Given the description of an element on the screen output the (x, y) to click on. 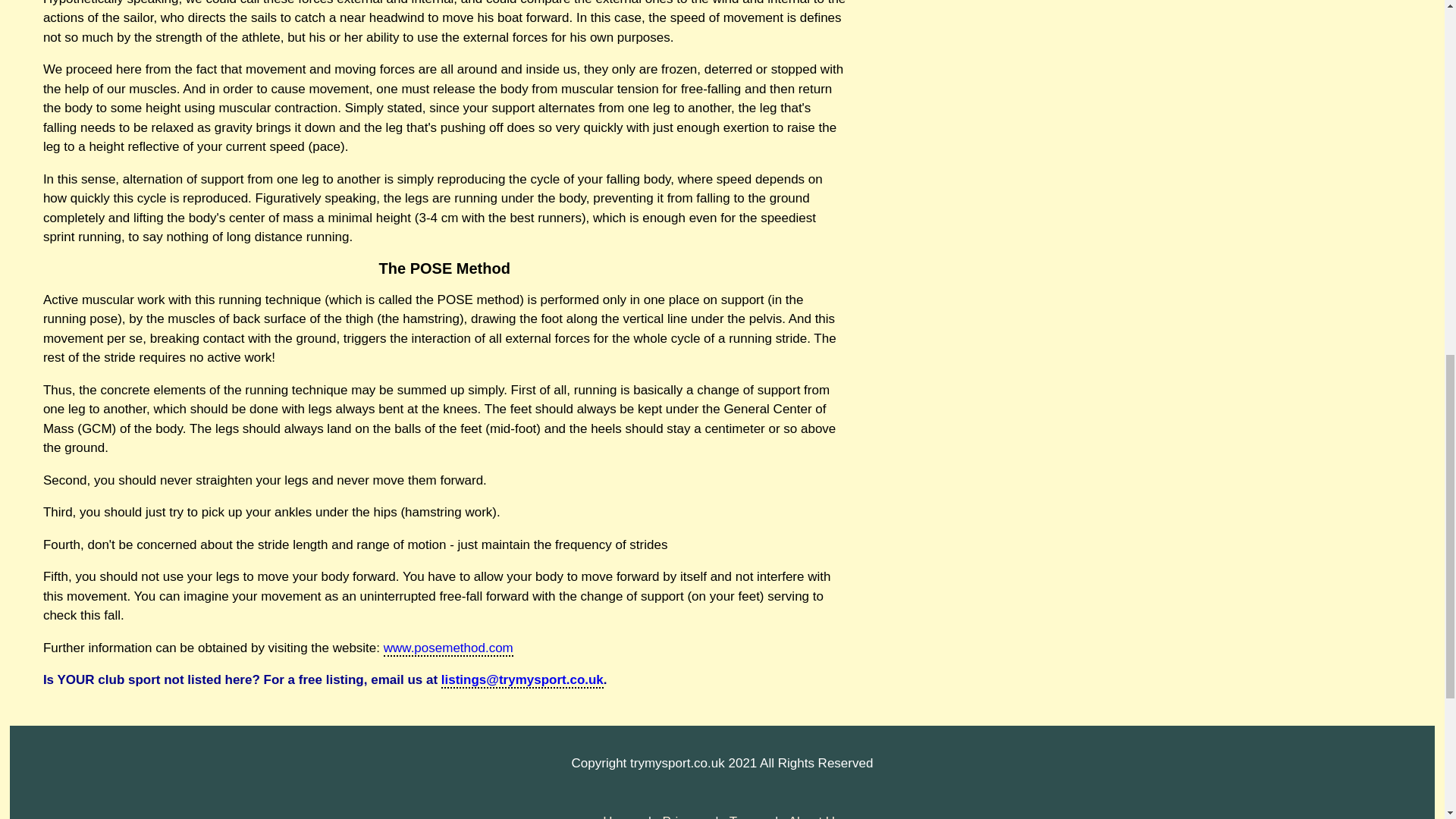
Home (621, 816)
www.posemethod.com (448, 648)
About Us (815, 816)
Privacy (684, 816)
Terms (748, 816)
